Given the description of an element on the screen output the (x, y) to click on. 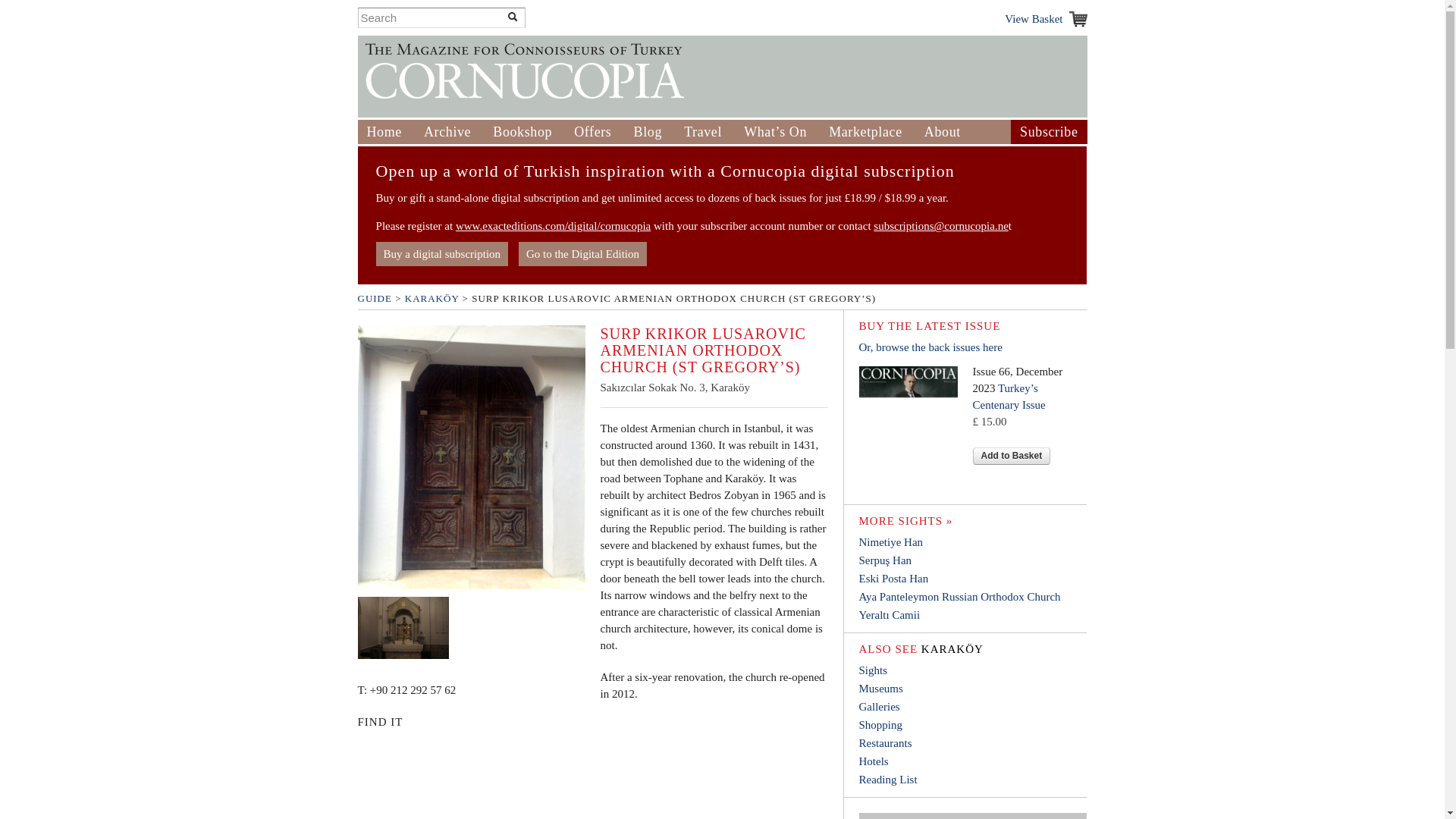
GUIDE (374, 297)
Subscribe (1048, 131)
Marketplace (865, 131)
Blog (647, 131)
Buy a digital subscription (441, 253)
About (942, 131)
Home (383, 131)
Travel (703, 131)
Archive (446, 131)
Go to the Digital Edition (582, 253)
